Given the description of an element on the screen output the (x, y) to click on. 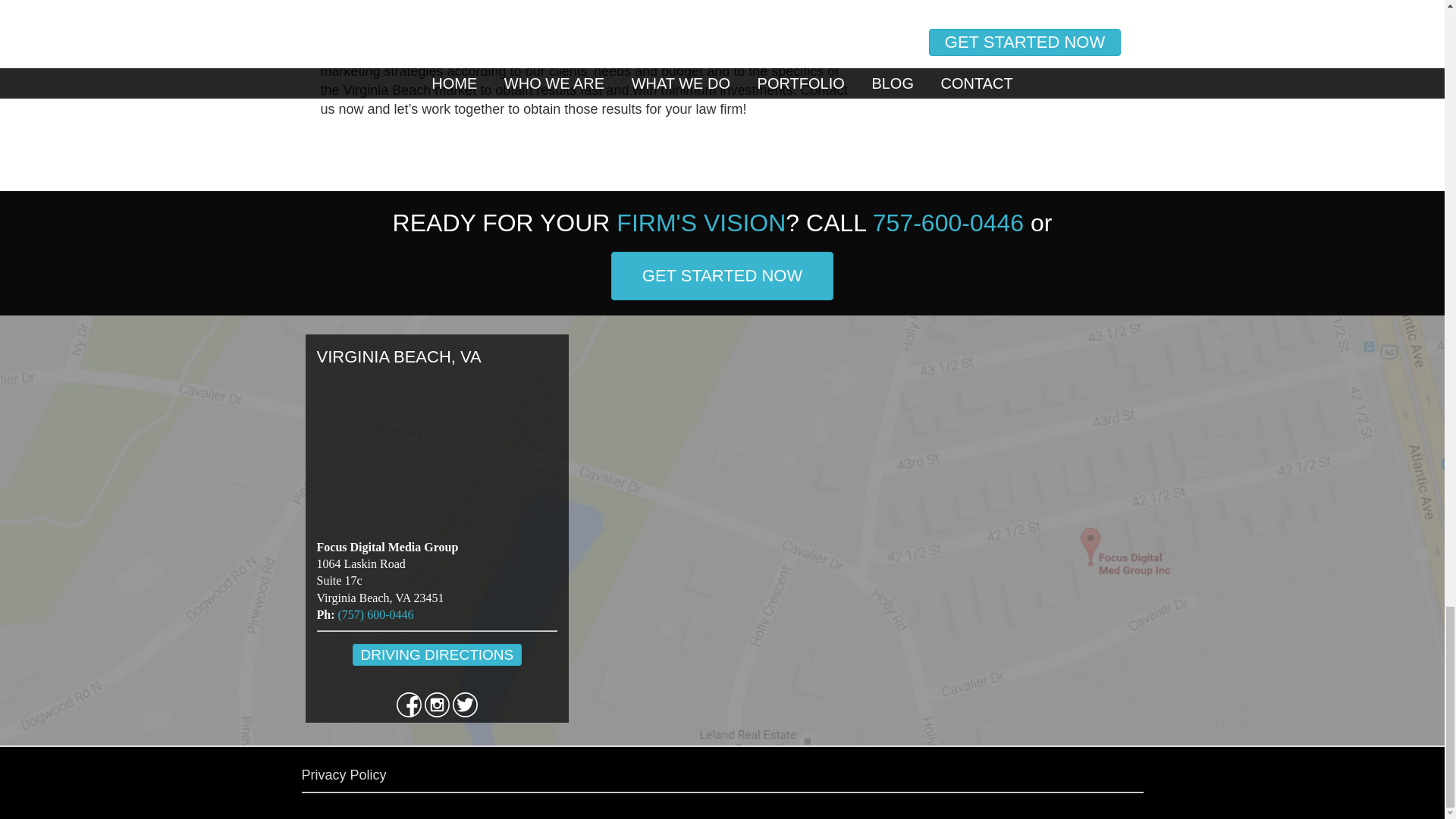
757-600-0446 (947, 222)
Focus DMG (373, 32)
Follow me Instagram (438, 712)
DRIVING DIRECTIONS (437, 654)
GET STARTED NOW (721, 275)
Privacy Policy (344, 774)
Follow me Facebook (410, 712)
our portfolio (681, 52)
Follow me Twitter (464, 712)
